Given the description of an element on the screen output the (x, y) to click on. 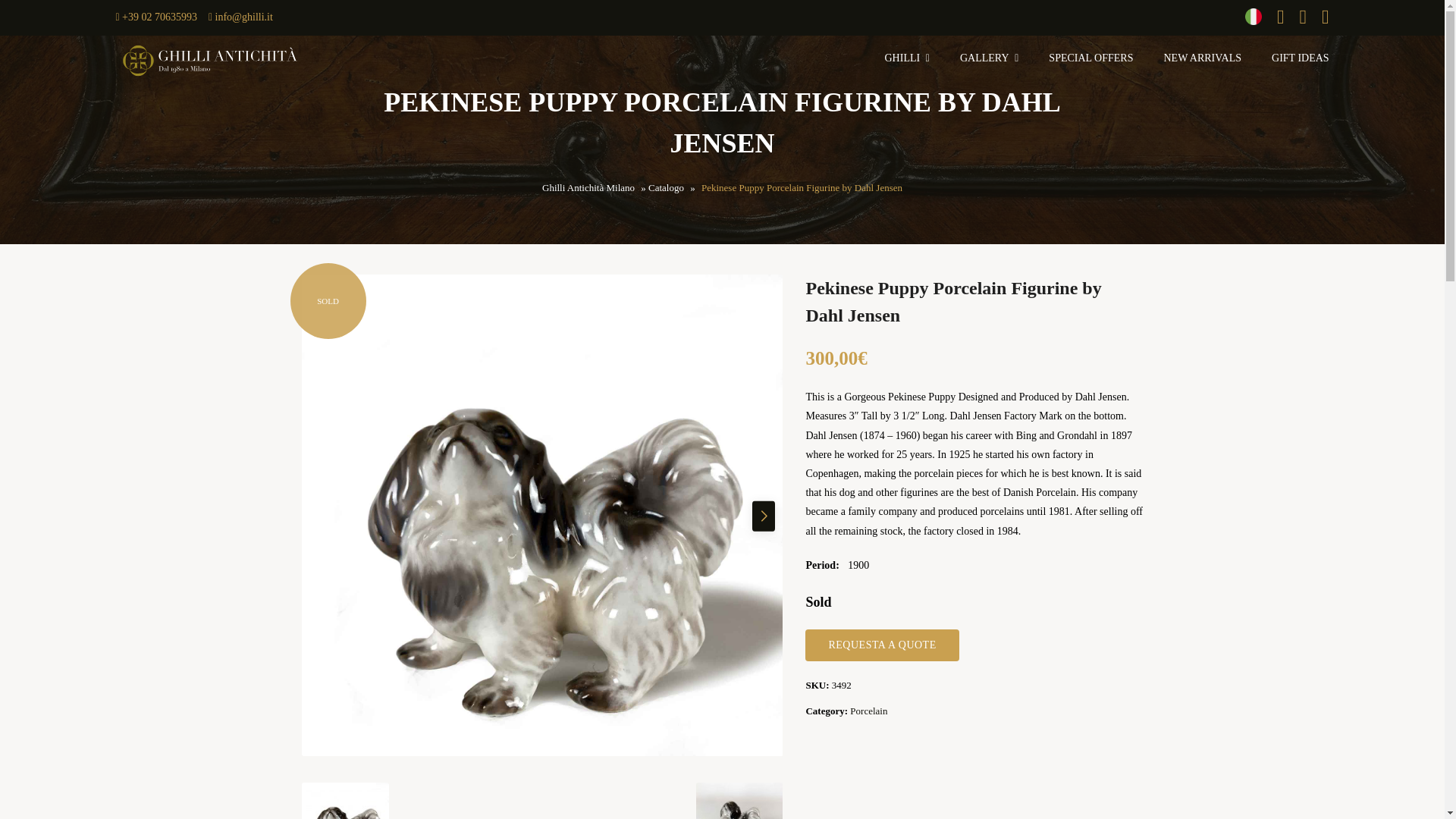
GALLERY (989, 57)
SPECIAL OFFERS (1090, 57)
NEW ARRIVALS (1202, 57)
GHILLI (906, 57)
Dahl Jensen cane pechinese (344, 800)
GIFT IDEAS (1296, 57)
Catalogo (665, 188)
